Given the description of an element on the screen output the (x, y) to click on. 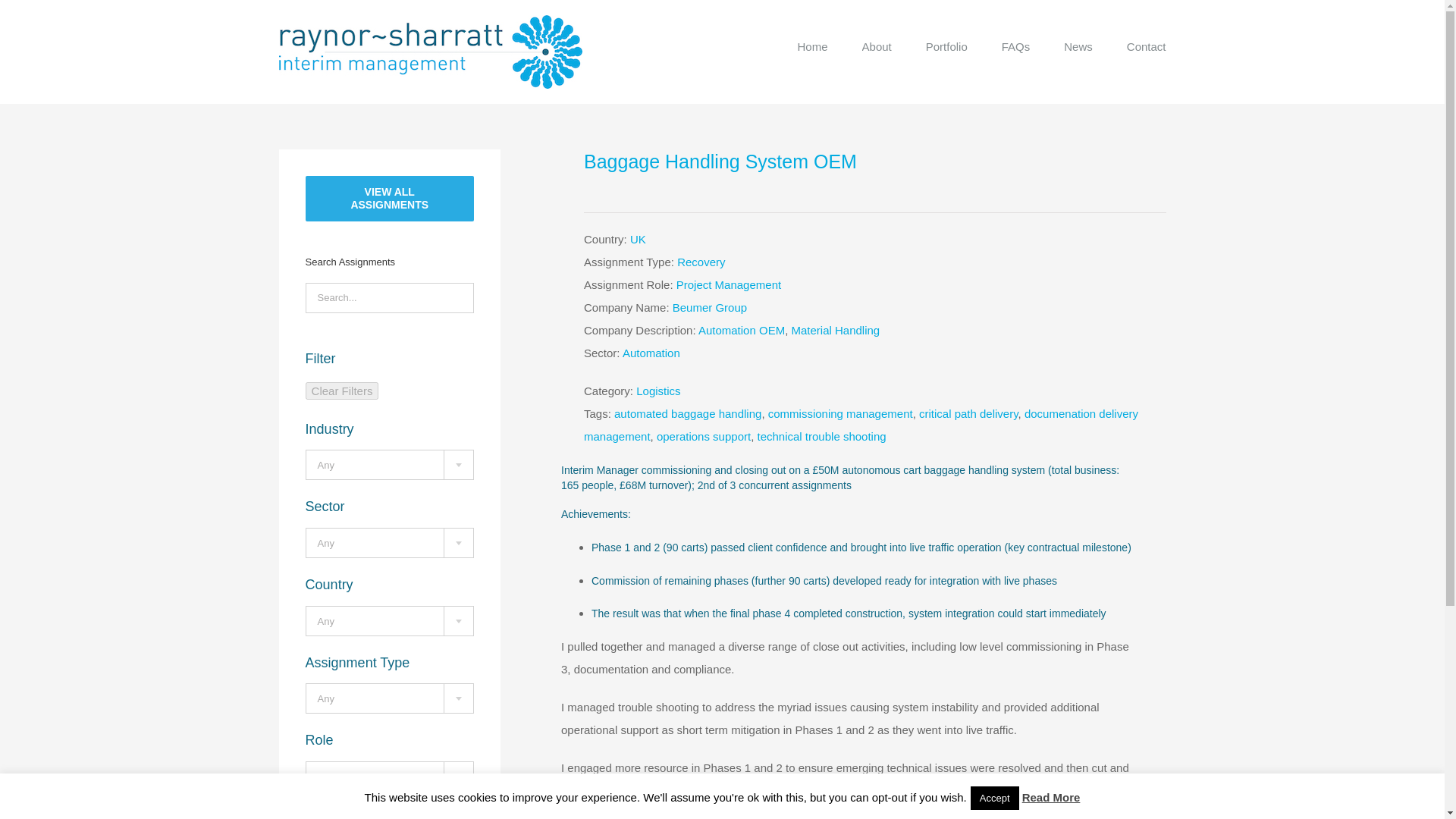
operations support (703, 436)
Any (389, 621)
Any (389, 465)
critical path delivery (967, 413)
commissioning management (840, 413)
documenation delivery management (860, 425)
Any (389, 777)
Any (389, 698)
Any (389, 543)
Automation (651, 352)
Recovery (701, 261)
Project Management (728, 284)
Beumer Group (709, 307)
Automation OEM (741, 329)
automated baggage handling (687, 413)
